Given the description of an element on the screen output the (x, y) to click on. 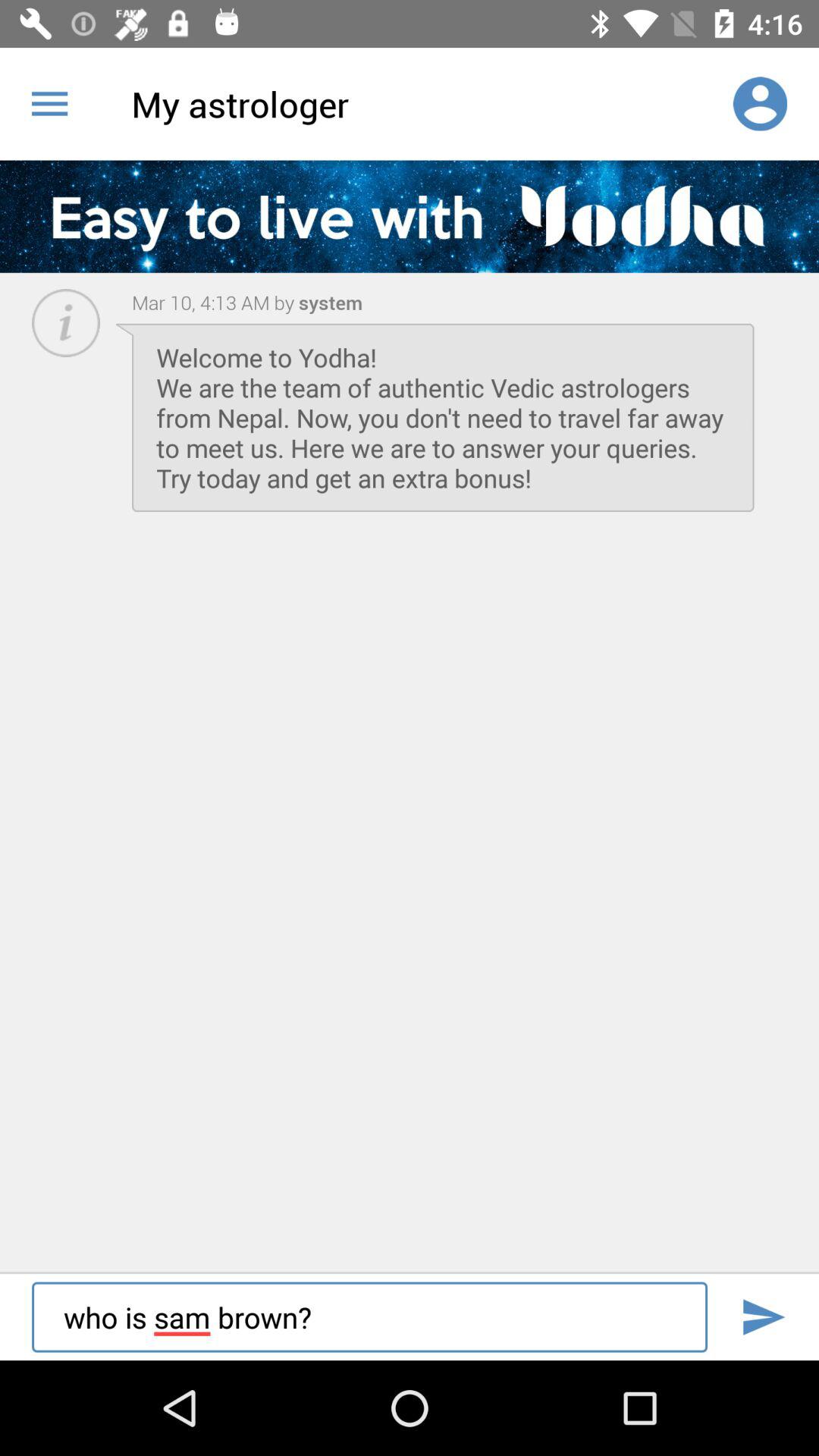
enter search box (763, 1317)
